Given the description of an element on the screen output the (x, y) to click on. 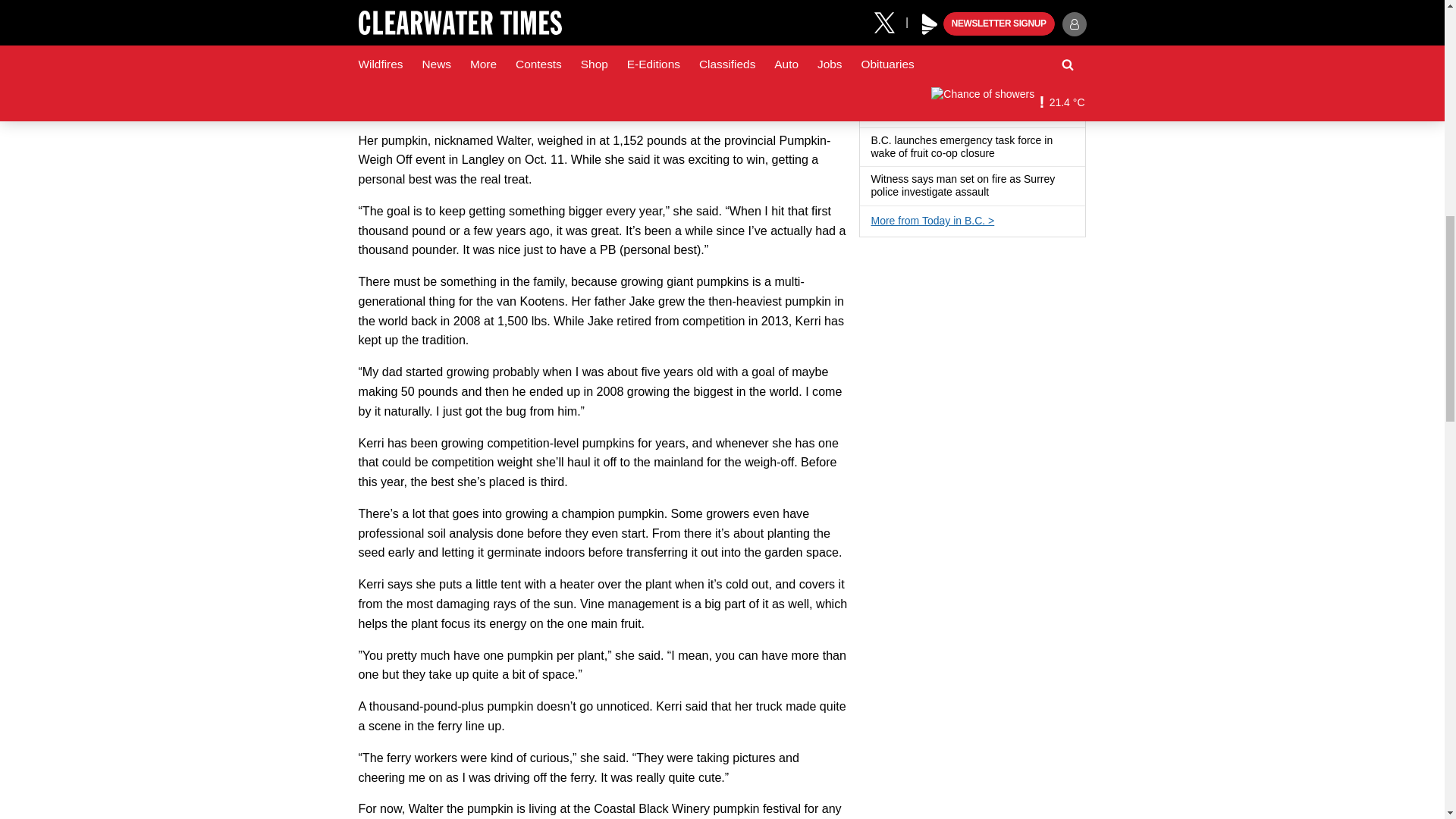
Has a gallery (997, 192)
